Given the description of an element on the screen output the (x, y) to click on. 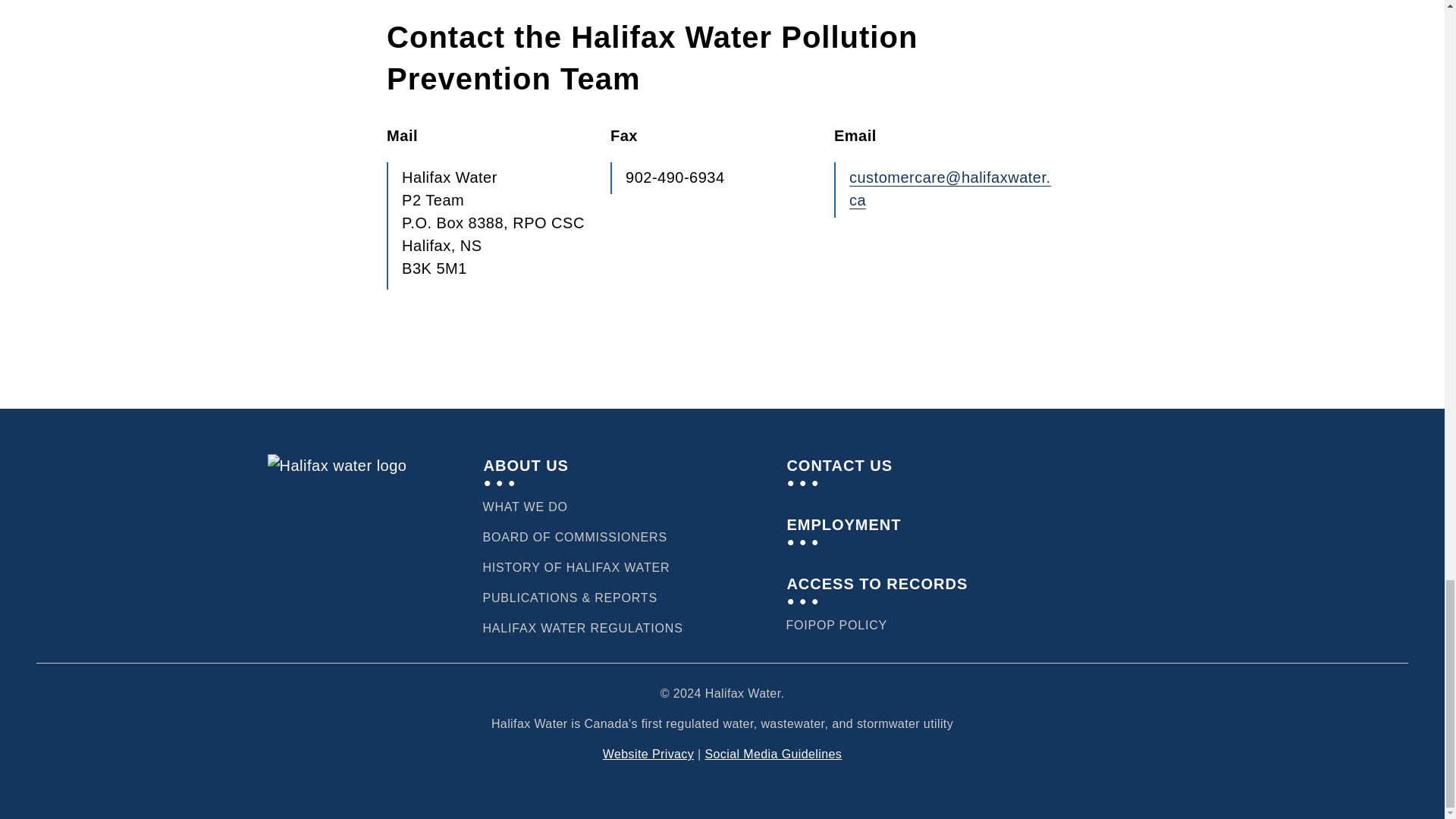
Halifax Water's Privacy Policy (874, 625)
